Given the description of an element on the screen output the (x, y) to click on. 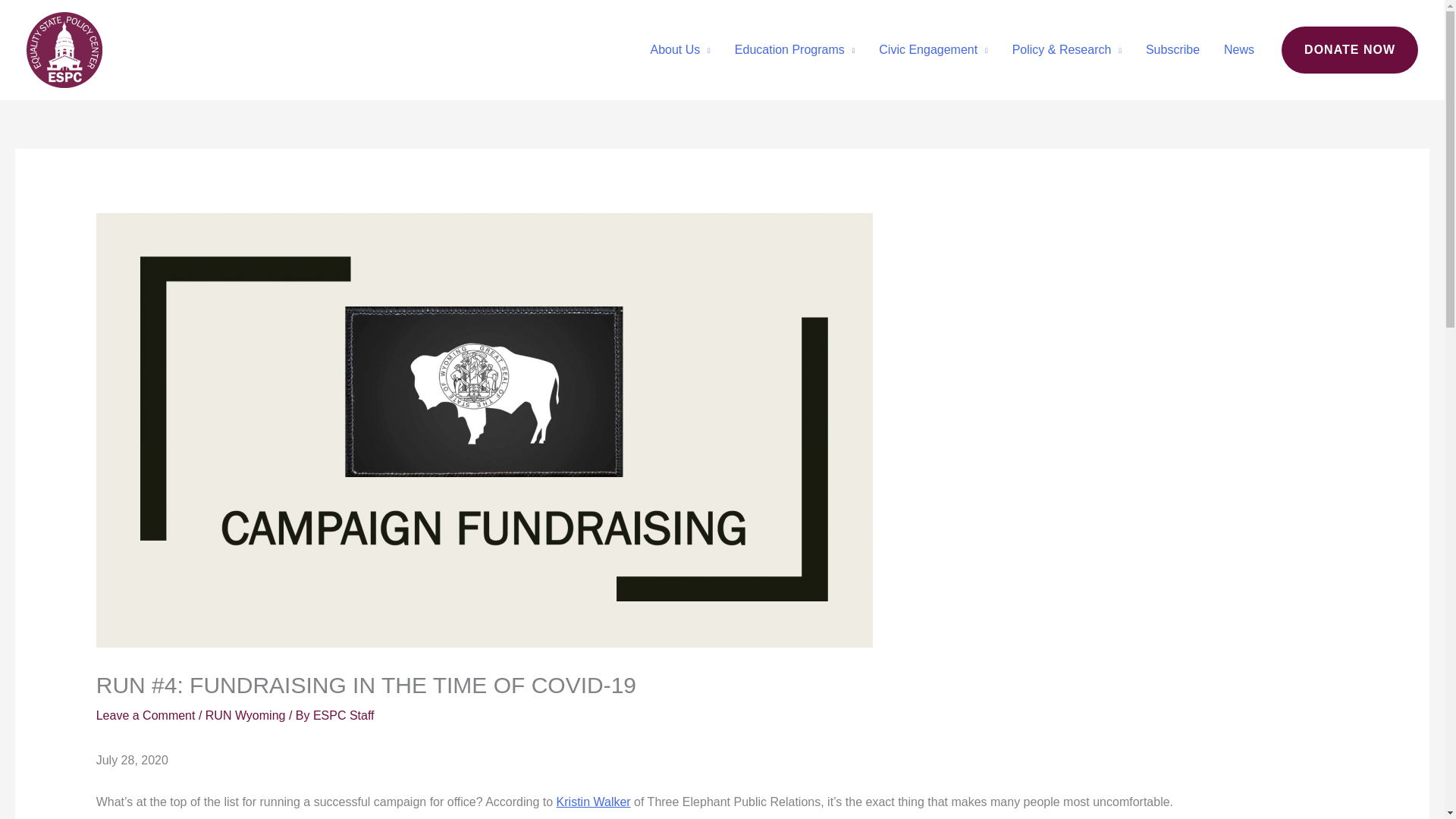
Subscribe (1172, 49)
News (1238, 49)
DONATE NOW (1349, 49)
View all posts by ESPC Staff (343, 715)
About Us (680, 49)
Education Programs (794, 49)
Civic Engagement (932, 49)
